Given the description of an element on the screen output the (x, y) to click on. 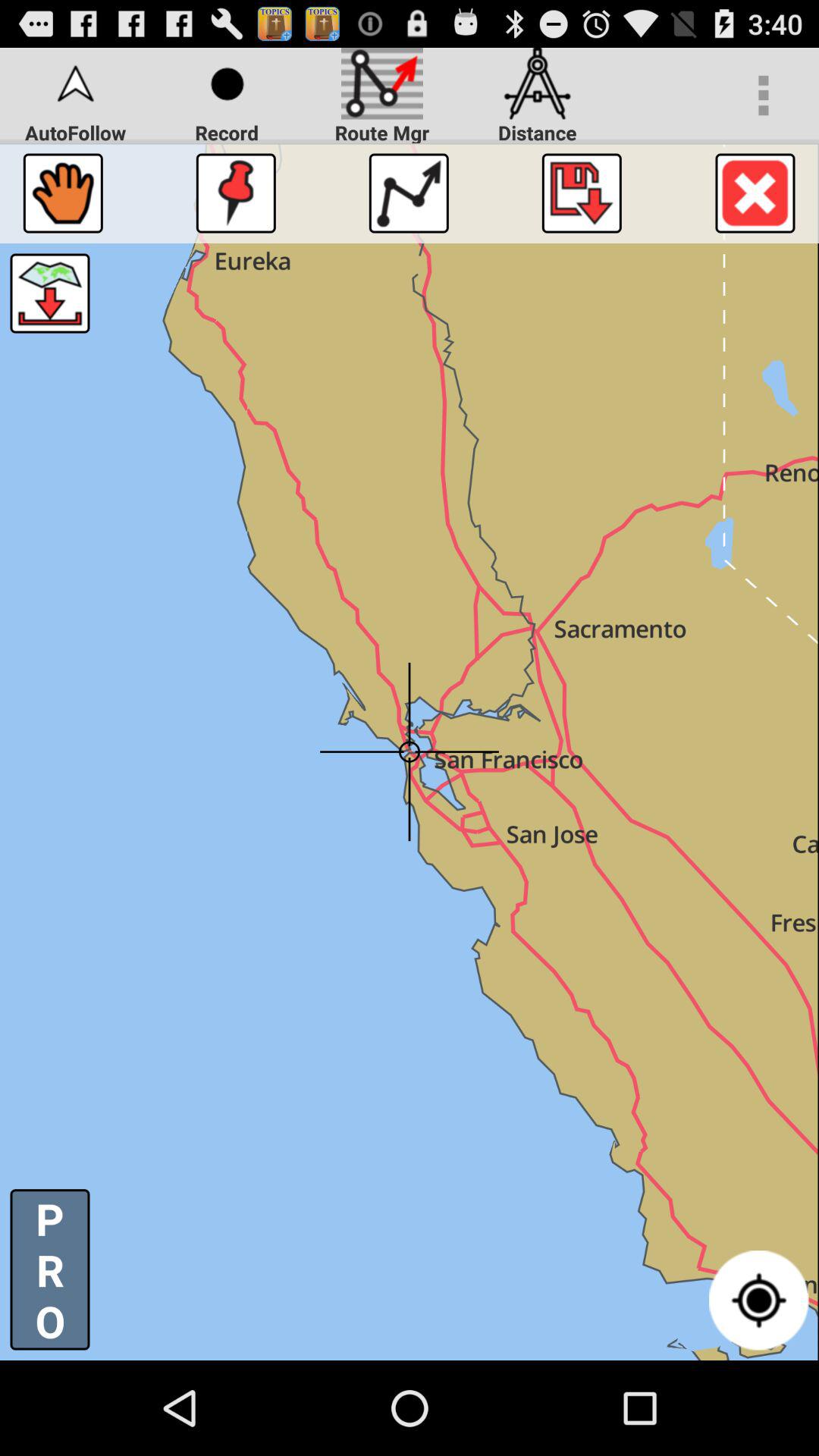
point out the area (235, 193)
